Given the description of an element on the screen output the (x, y) to click on. 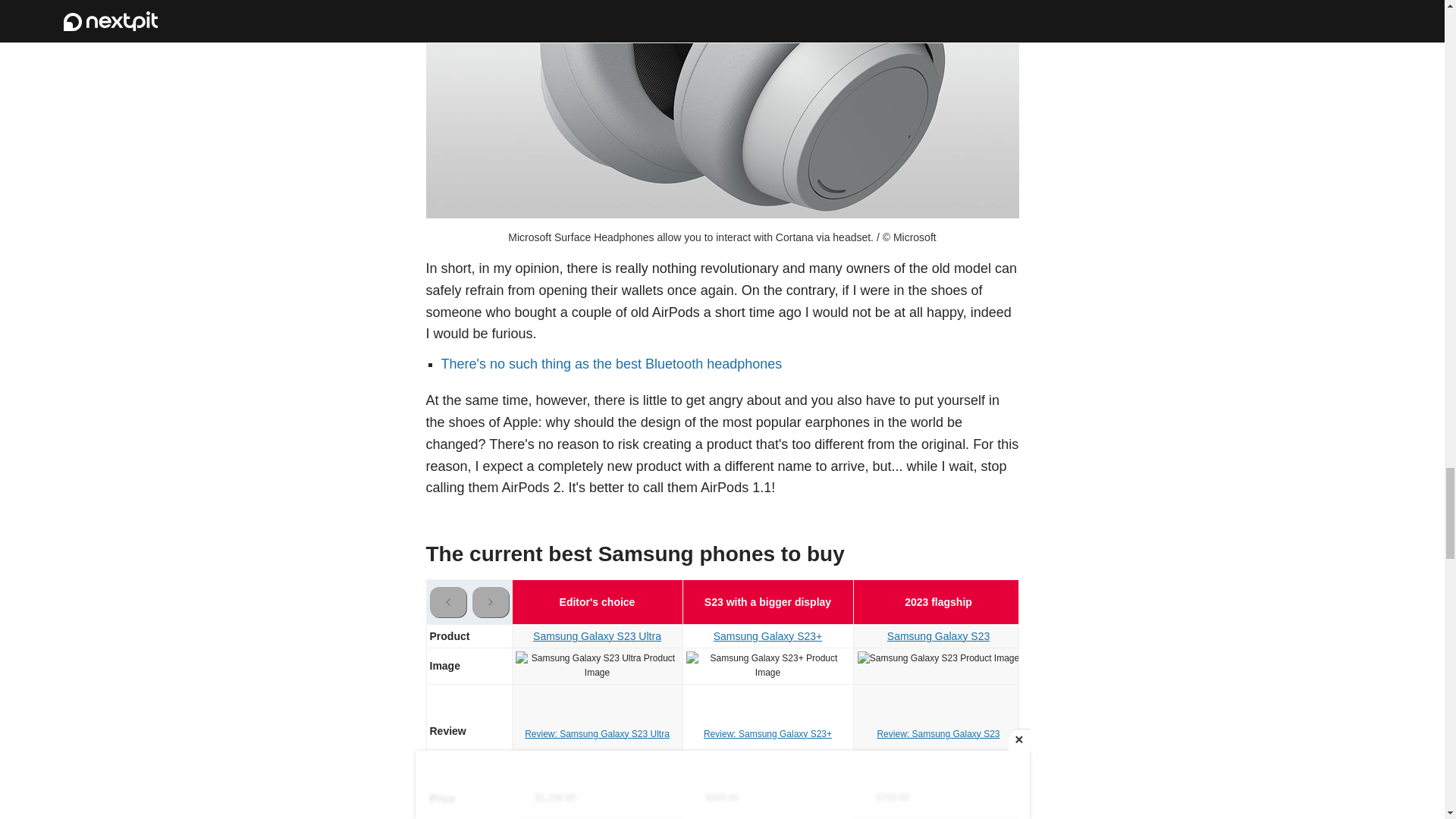
Samsung Galaxy Z Fold 5 Product Image (1108, 665)
Samsung Galaxy S23 Product Image (938, 658)
Samsung Galaxy Z Fold 4 Product Image (1279, 665)
Samsung Galaxy S23 Ultra Product Image (597, 665)
